Given the description of an element on the screen output the (x, y) to click on. 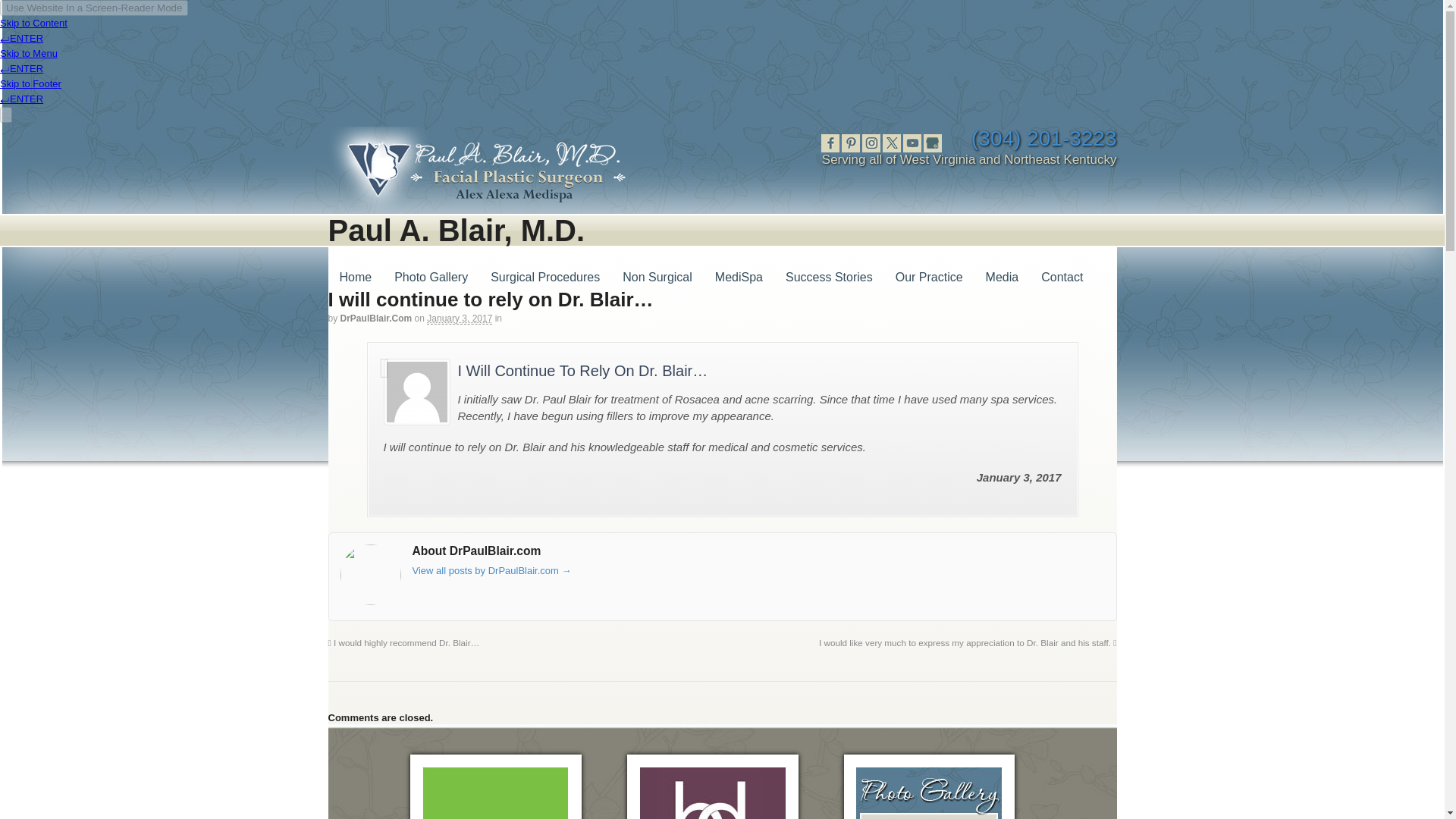
Twitter, Dr. Paul Blair, Hurricane, WV (891, 143)
Google My Business, Dr. Paul Blair, Hurricane, WV (932, 143)
Facial Plastic Surgery - Northeast Kentucky (481, 206)
Surgical Procedures (556, 277)
Non Surgical (668, 277)
Call now (1043, 137)
Youtube, Dr. Paul Blair, Hurricane, WV (911, 143)
2017-01-03T19:48:18-0500 (459, 318)
Pinterest, Dr. Paul Blair, Hurricane, WV (850, 143)
Photo Gallery (442, 277)
